Given the description of an element on the screen output the (x, y) to click on. 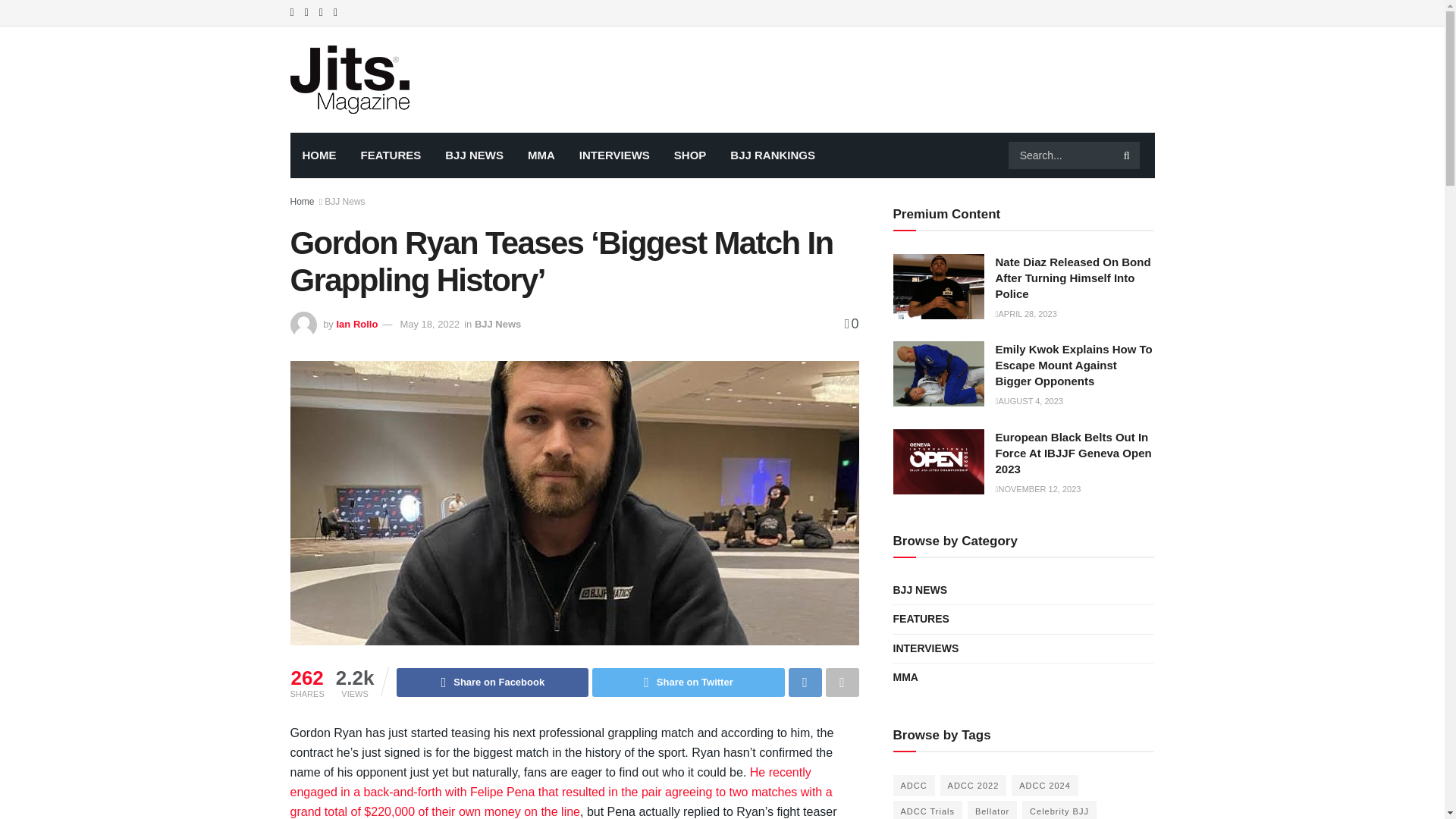
BJJ News (344, 201)
HOME (318, 155)
Share on Twitter (688, 682)
BJJ RANKINGS (772, 155)
0 (851, 323)
Home (301, 201)
SHOP (690, 155)
BJJ NEWS (473, 155)
FEATURES (391, 155)
MMA (541, 155)
